Given the description of an element on the screen output the (x, y) to click on. 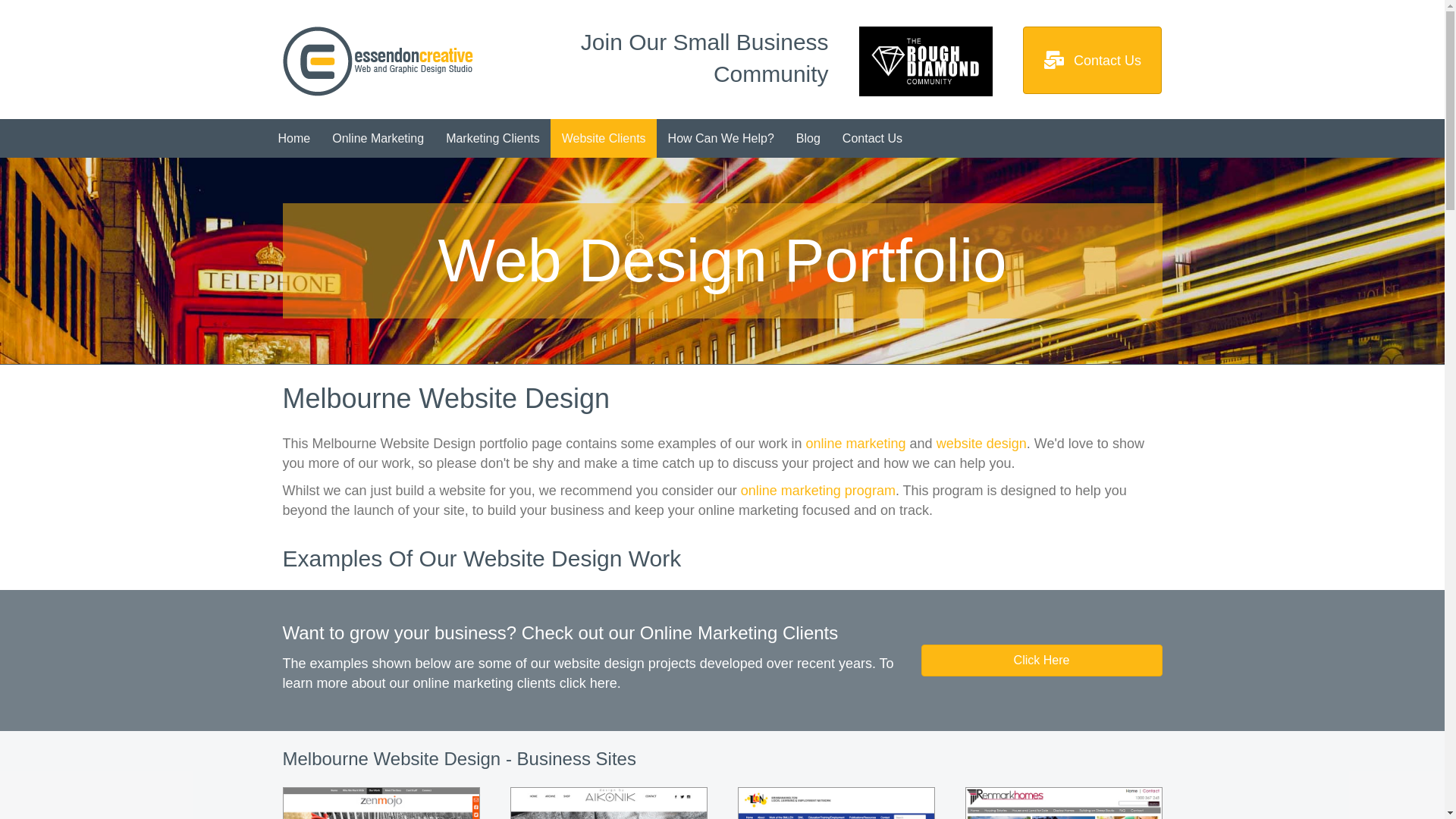
Contact Us Element type: text (872, 138)
Online Marketing Element type: text (377, 138)
Join Our Small Business Community Element type: text (704, 57)
How Can We Help? Element type: text (720, 138)
Contact Us Element type: text (1091, 60)
Click Here Element type: text (1040, 660)
Home Element type: text (293, 138)
Marketing Clients Element type: text (492, 138)
online marketing Element type: text (856, 443)
online marketing program Element type: text (817, 490)
website design Element type: text (981, 443)
ews-logo Element type: hover (377, 61)
Website Clients Element type: text (603, 138)
Blog Element type: text (808, 138)
rdc Element type: hover (926, 61)
click here Element type: text (588, 682)
